Given the description of an element on the screen output the (x, y) to click on. 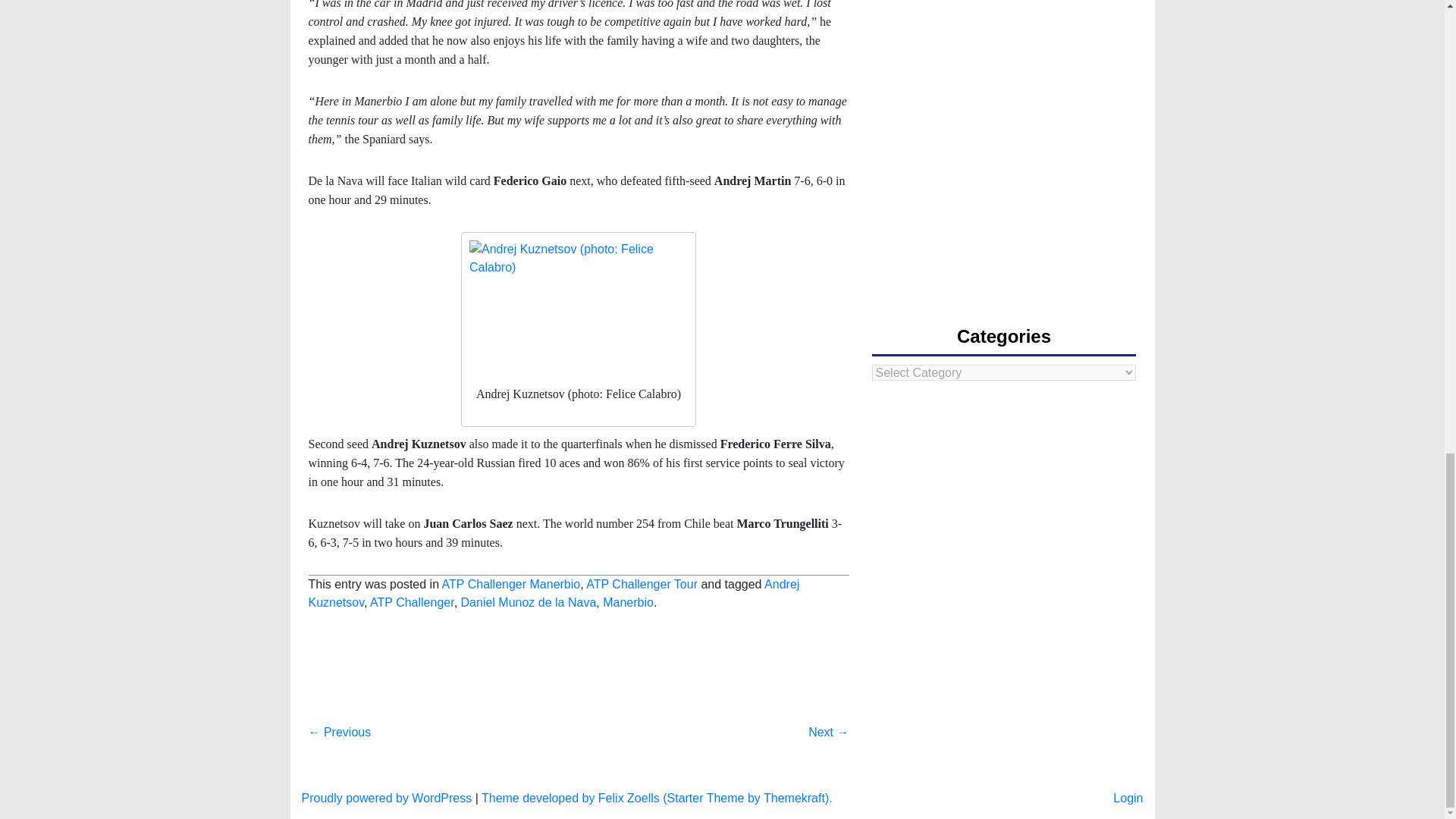
Daniel Munoz de la Nava (528, 602)
Manerbio (627, 602)
Proudly powered by WordPress (386, 797)
Login (1127, 798)
Andrej Kuznetsov (553, 593)
ATP Challenger Manerbio (511, 584)
ATP Challenger Tour (641, 584)
ATP Challenger (411, 602)
